Given the description of an element on the screen output the (x, y) to click on. 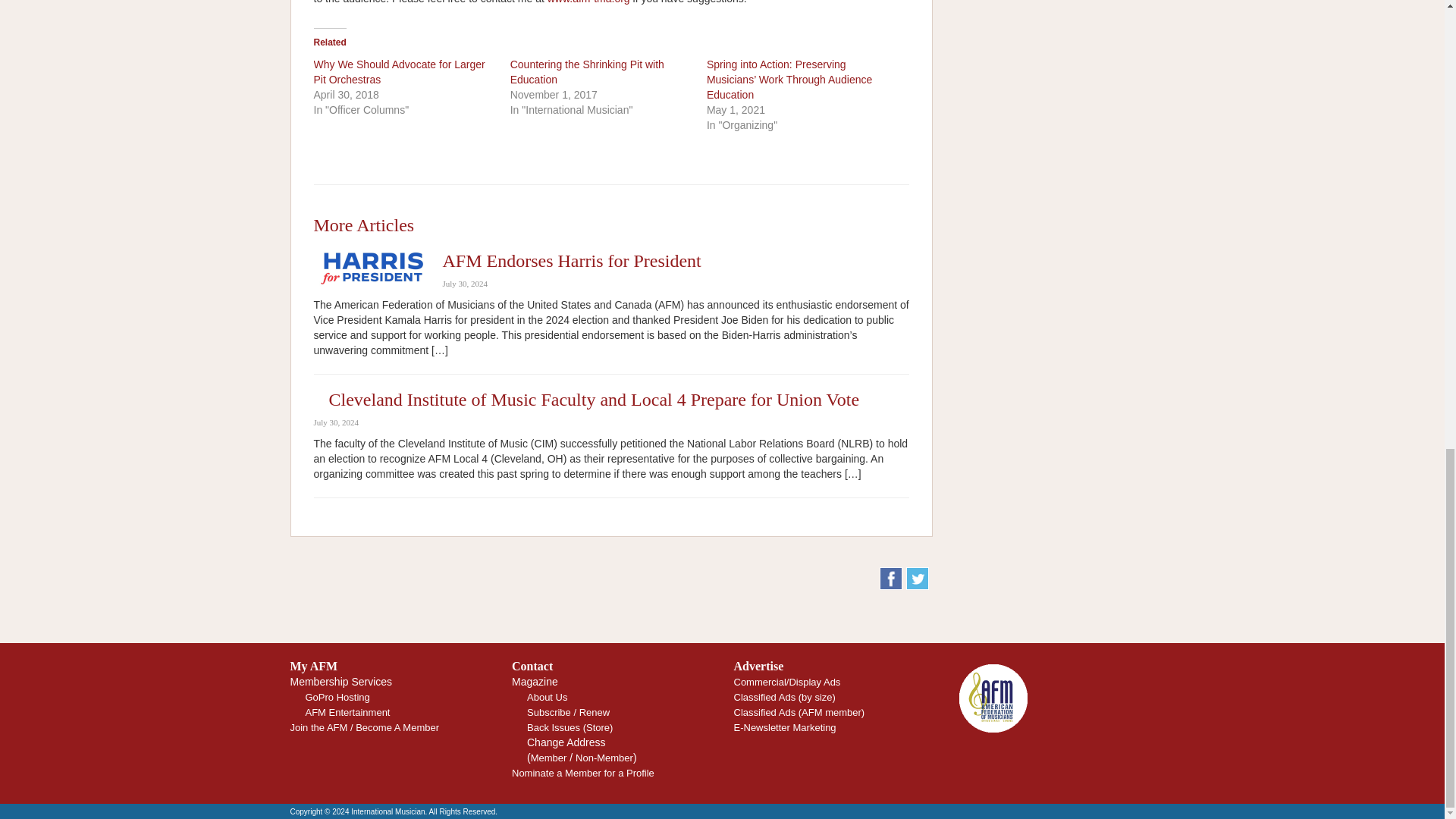
Why We Should Advocate for Larger Pit Orchestras (399, 71)
Countering the Shrinking Pit with Education (587, 71)
AFM Endorses Harris for President (571, 260)
